Given the description of an element on the screen output the (x, y) to click on. 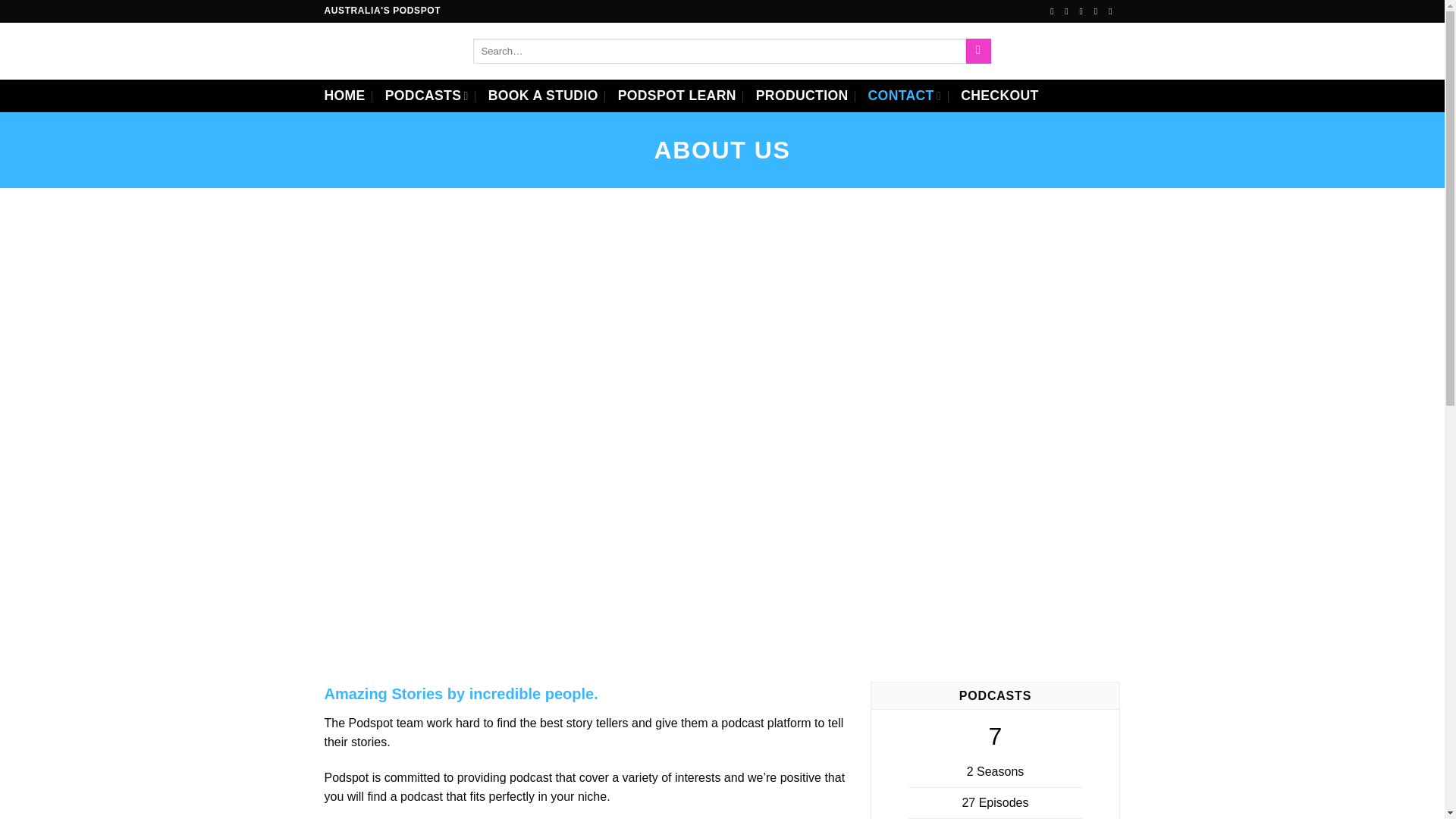
CONTACT (904, 95)
PRODUCTION (801, 95)
CHECKOUT (999, 95)
BOOK A STUDIO (542, 95)
HOME (344, 95)
PODSPOT LEARN (676, 95)
PODCASTS (426, 95)
